Given the description of an element on the screen output the (x, y) to click on. 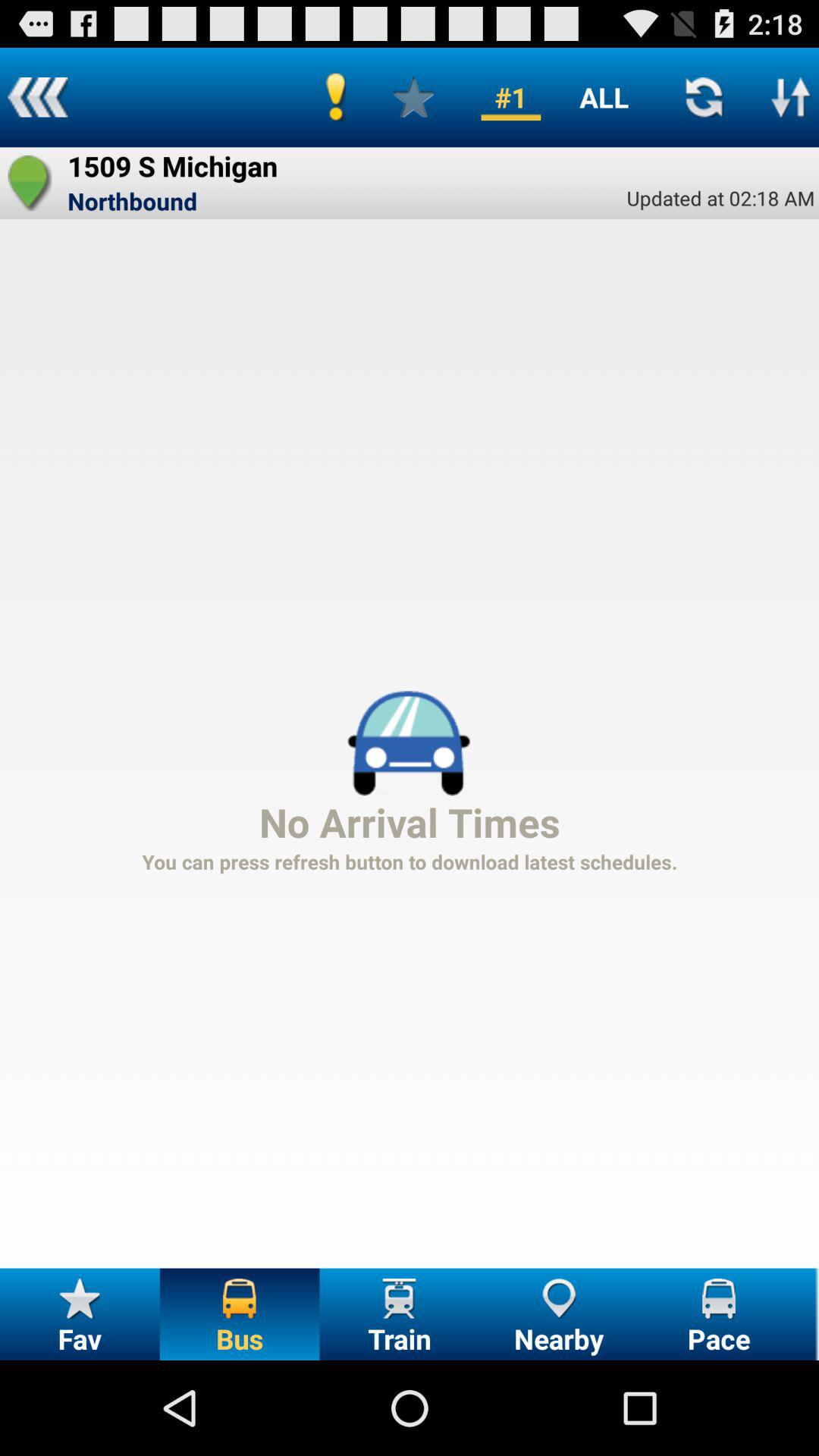
select the button to the right of   #1   item (603, 97)
